Given the description of an element on the screen output the (x, y) to click on. 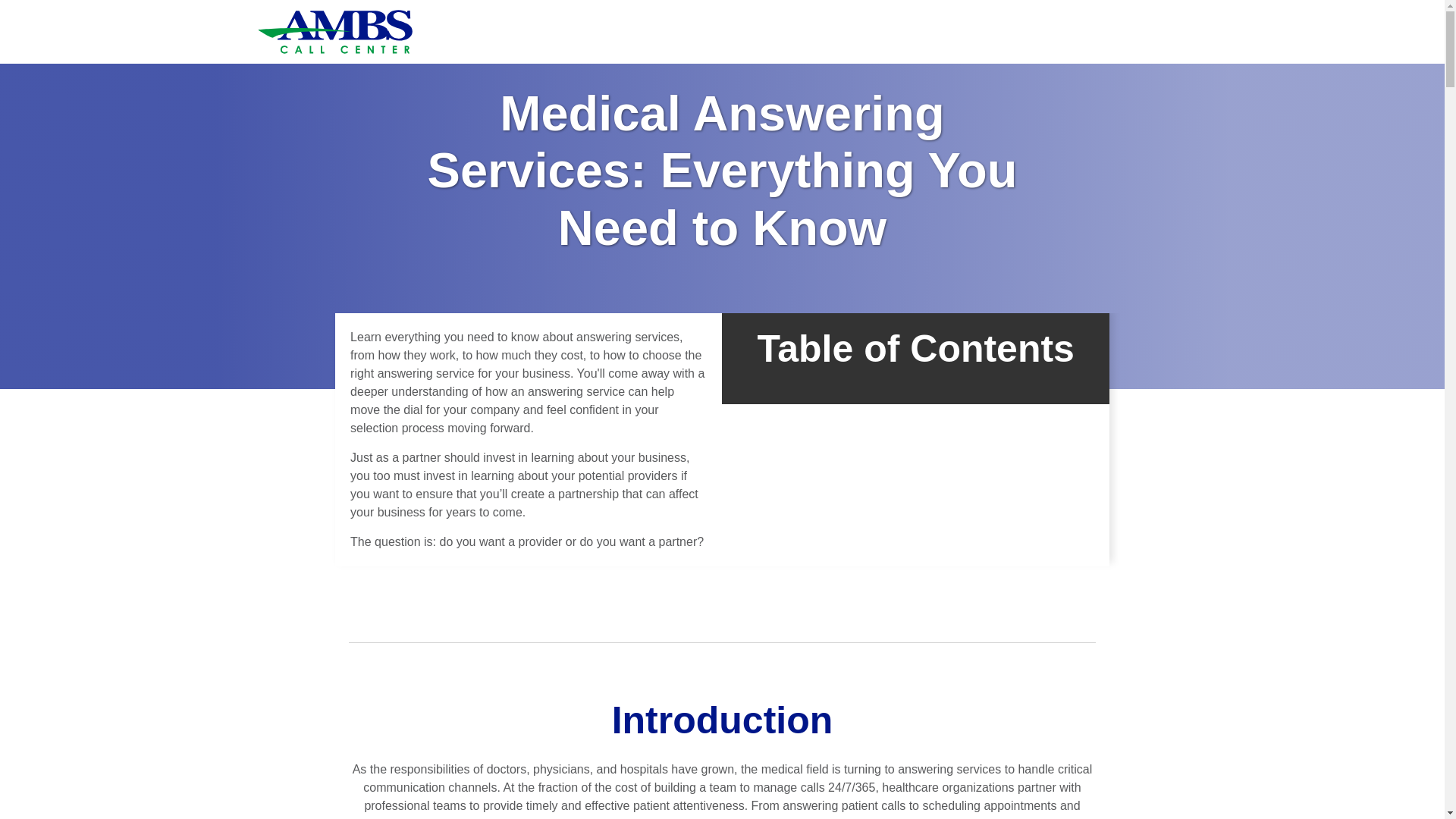
Sales: 800.968.1181 (785, 10)
Support (1024, 10)
Pay Online (1081, 10)
Careers (1138, 10)
Login (981, 10)
Support: 888.363.4621 (902, 10)
